Given the description of an element on the screen output the (x, y) to click on. 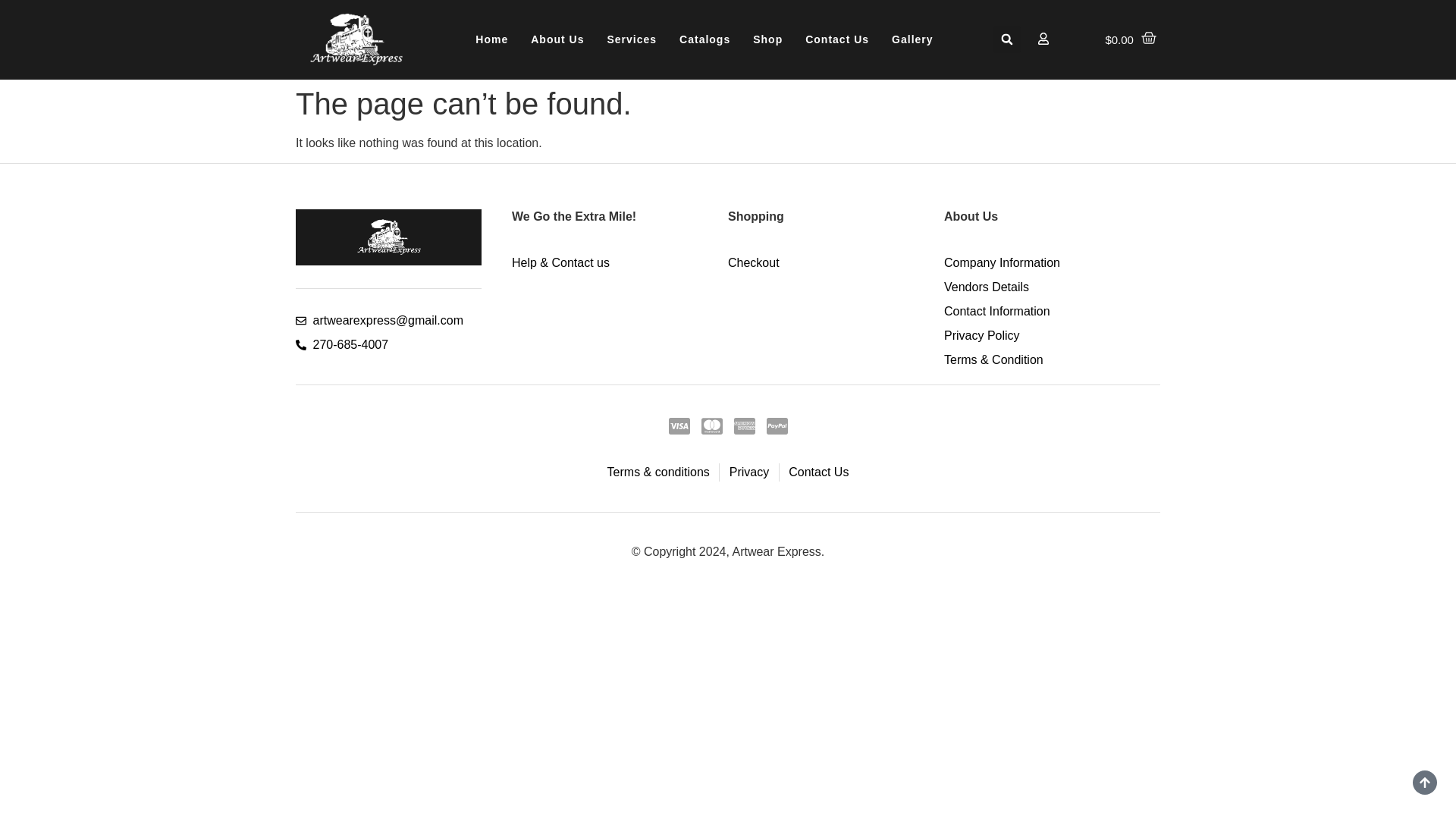
Home (491, 39)
Contact Us (836, 39)
Catalogs (704, 39)
Shop (767, 39)
About Us (557, 39)
Gallery (911, 39)
Services (631, 39)
